Given the description of an element on the screen output the (x, y) to click on. 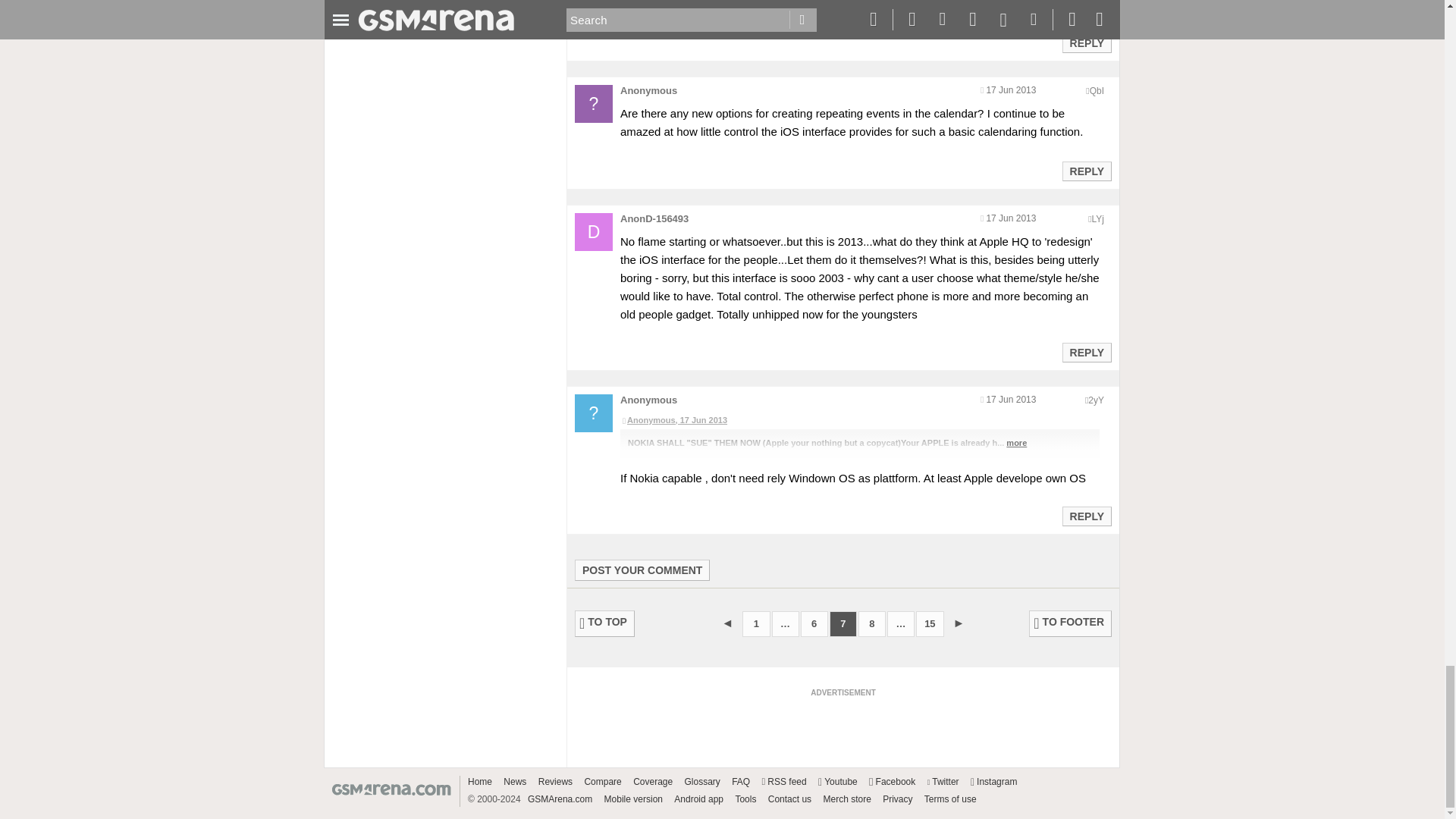
TO TOP (604, 623)
